Given the description of an element on the screen output the (x, y) to click on. 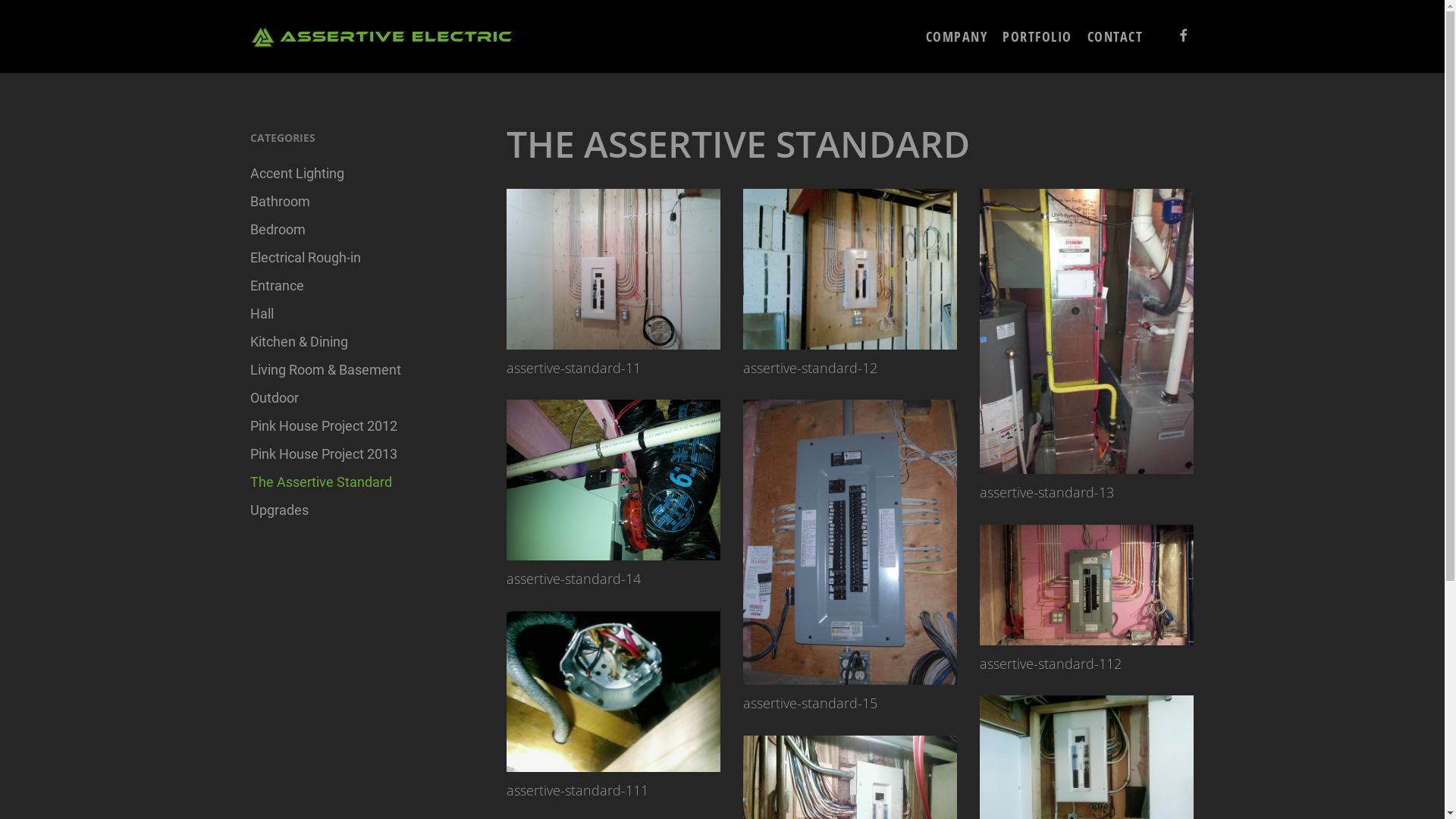
Upgrades Element type: text (361, 509)
assertive-standard-11 Element type: hover (613, 268)
assertive-standard-14 Element type: hover (613, 479)
assertive-standard-112 Element type: hover (1086, 584)
COMPANY Element type: text (956, 36)
Electrical Rough-in Element type: text (361, 257)
CONTACT Element type: text (1115, 36)
The Assertive Standard Element type: text (361, 481)
FACEBOOK Element type: text (1183, 36)
Living Room & Basement Element type: text (361, 369)
Pink House Project 2013 Element type: text (361, 453)
Entrance Element type: text (361, 285)
Hall Element type: text (361, 313)
assertive-standard-111 Element type: hover (613, 691)
Outdoor Element type: text (361, 397)
Pink House Project 2012 Element type: text (361, 425)
assertive-standard-15 Element type: hover (850, 541)
assertive-standard-13 Element type: hover (1086, 330)
Accent Lighting Element type: text (361, 173)
Bathroom Element type: text (361, 201)
Kitchen & Dining Element type: text (361, 341)
Bedroom Element type: text (361, 229)
PORTFOLIO Element type: text (1037, 36)
assertive-standard-12 Element type: hover (850, 268)
